Given the description of an element on the screen output the (x, y) to click on. 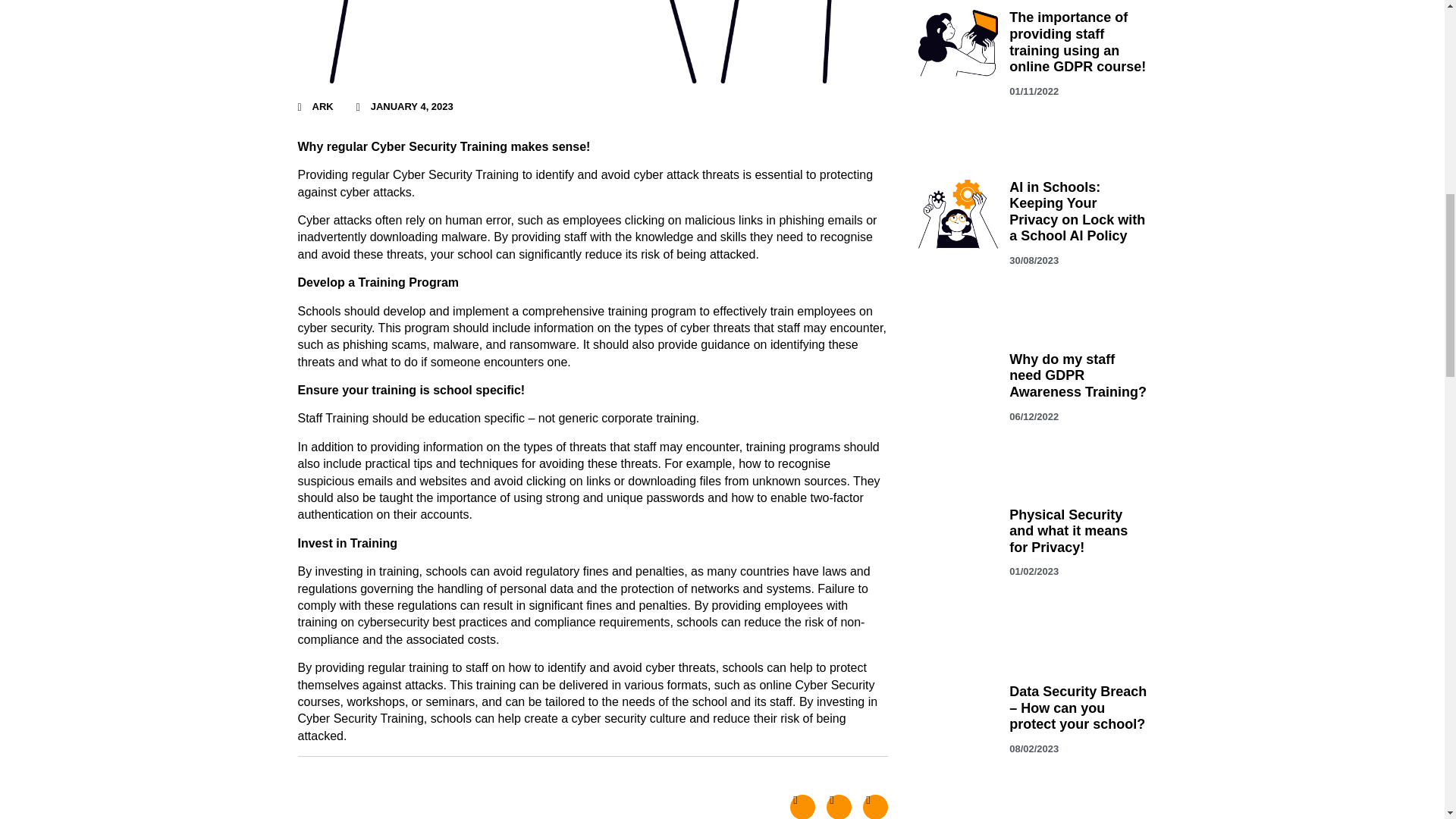
ARK (315, 106)
JANUARY 4, 2023 (404, 106)
online Cyber Security courses (586, 693)
